Given the description of an element on the screen output the (x, y) to click on. 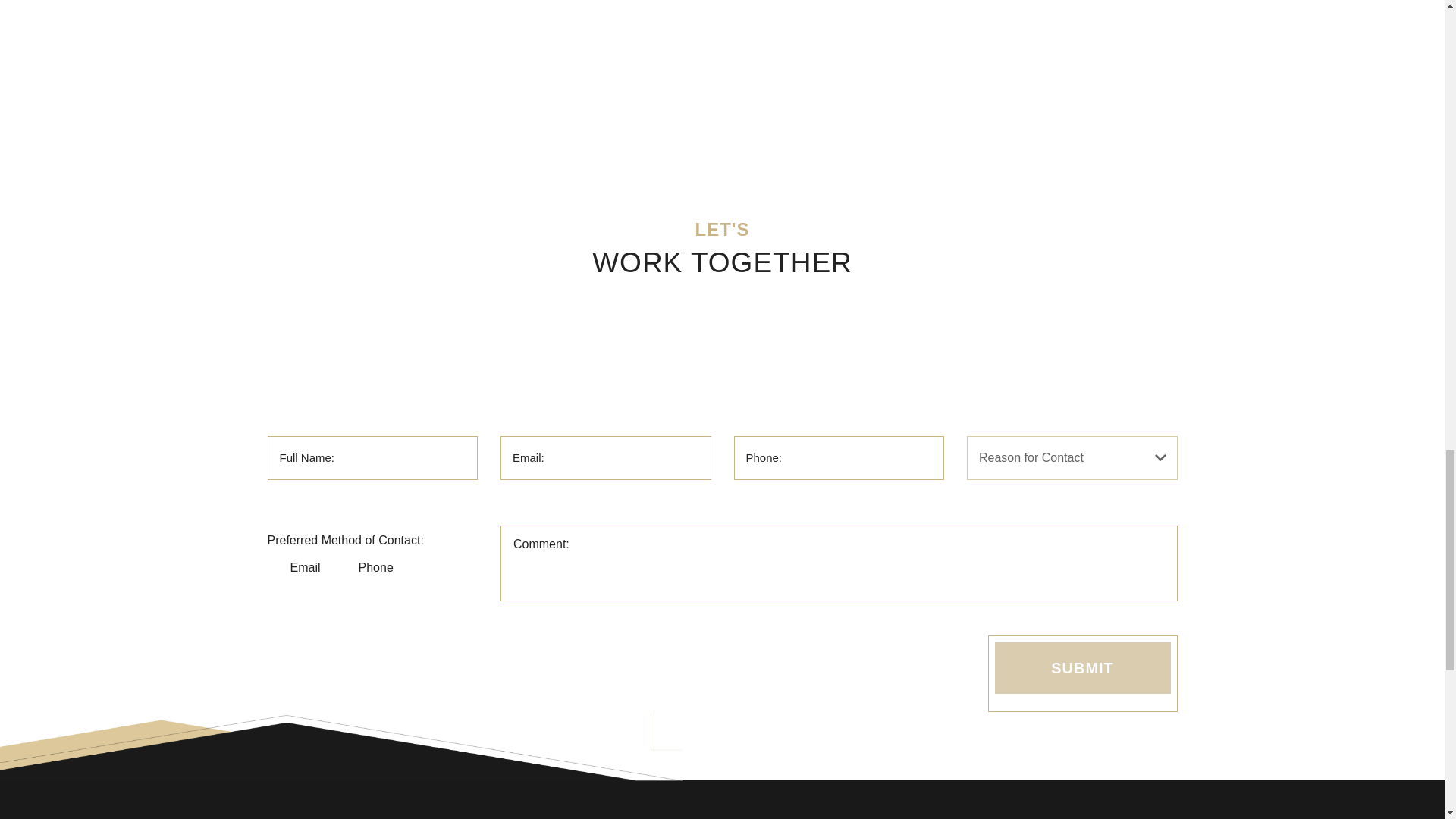
Submit (1082, 667)
